Given the description of an element on the screen output the (x, y) to click on. 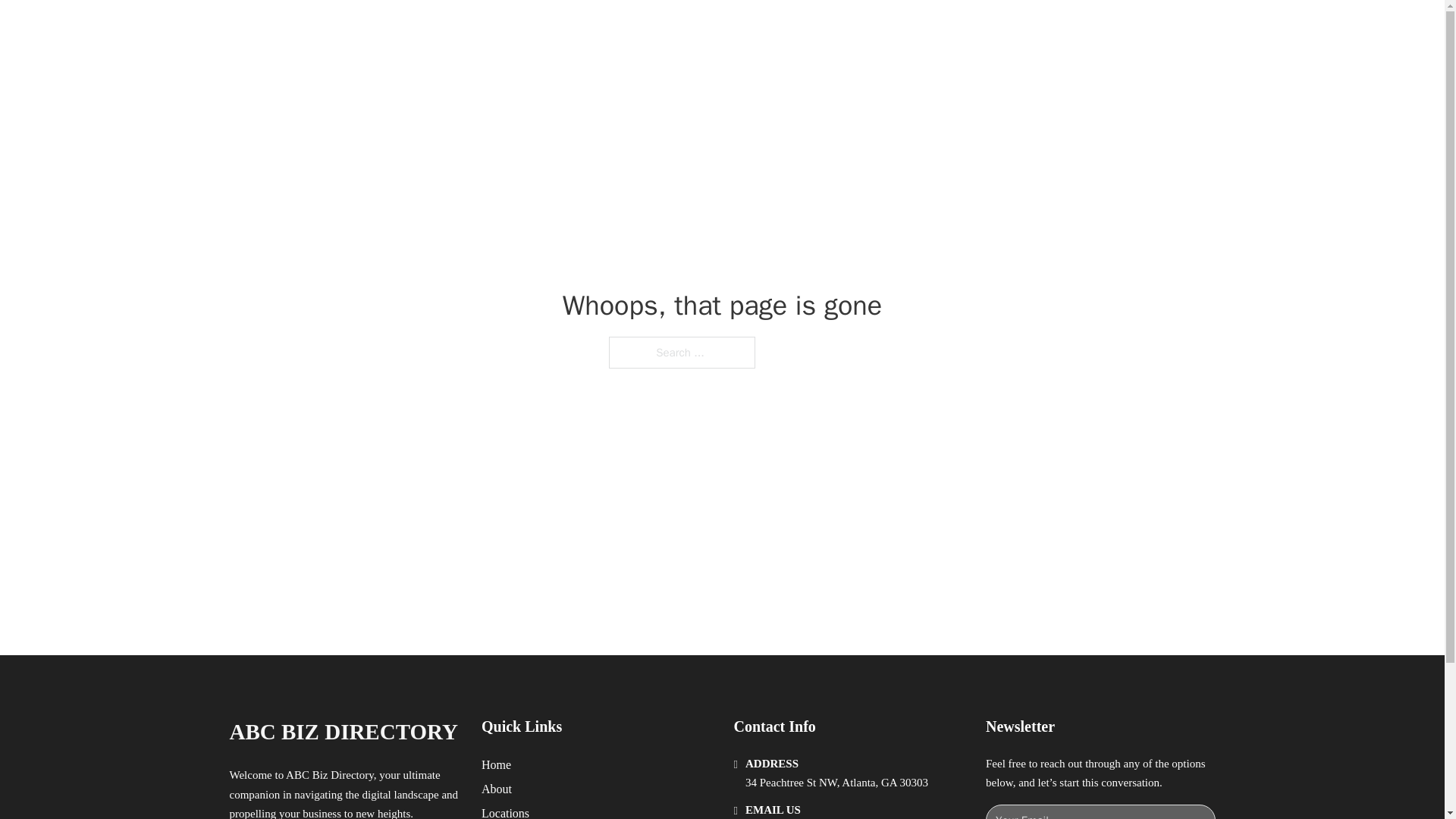
HOME (919, 29)
LOCATIONS (990, 29)
Locations (505, 811)
Home (496, 764)
ABC BIZ DIRECTORY (411, 28)
About (496, 788)
ABC BIZ DIRECTORY (342, 732)
